Given the description of an element on the screen output the (x, y) to click on. 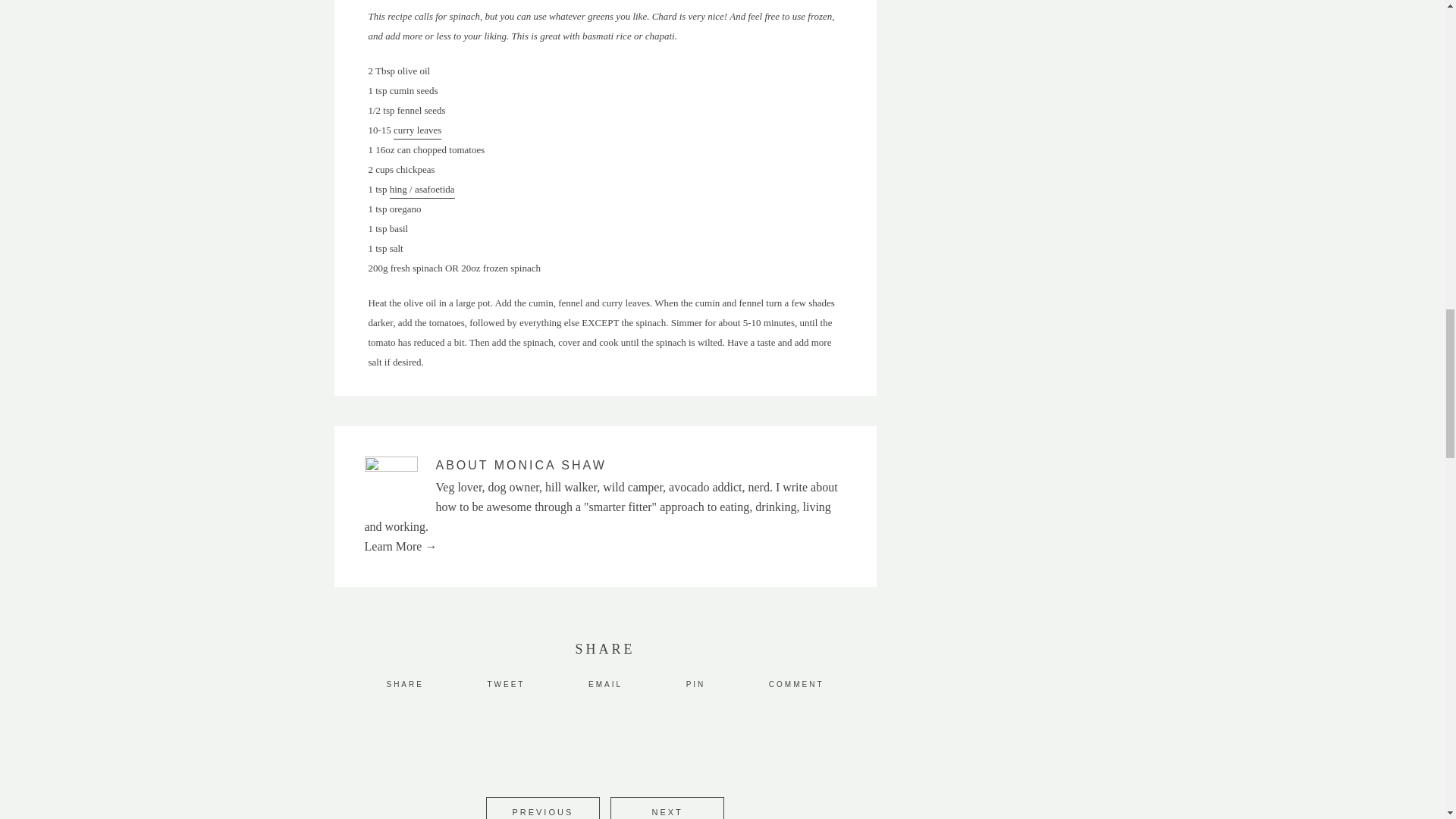
SHARE (404, 684)
EMAIL (605, 684)
Twitter (505, 684)
TWEET (505, 684)
curry leaves (417, 131)
Facebook (404, 684)
